Given the description of an element on the screen output the (x, y) to click on. 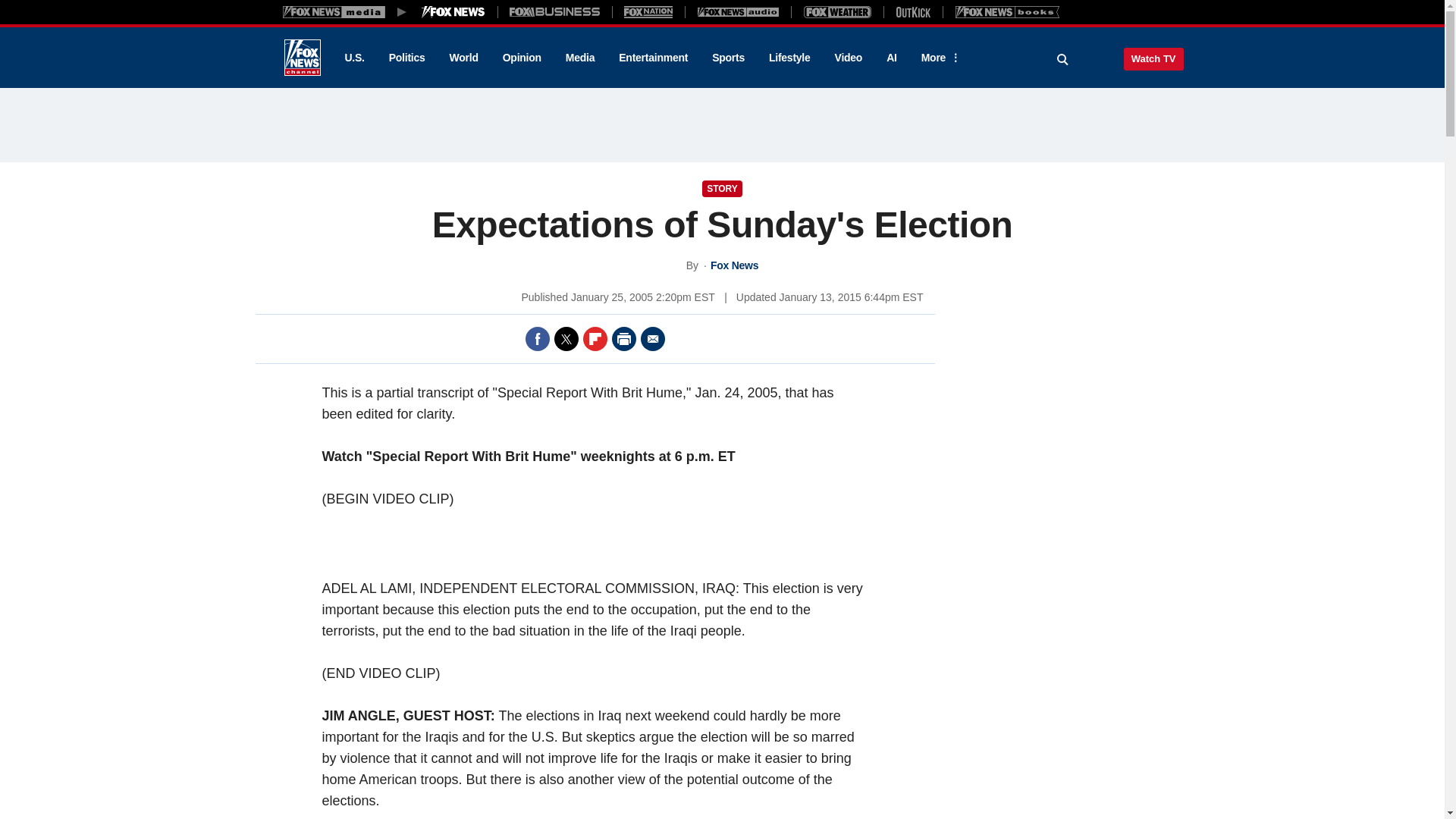
World (464, 57)
Opinion (521, 57)
Books (1007, 11)
Video (848, 57)
Lifestyle (789, 57)
Sports (728, 57)
Watch TV (1153, 58)
AI (891, 57)
Politics (407, 57)
Fox Nation (648, 11)
